Given the description of an element on the screen output the (x, y) to click on. 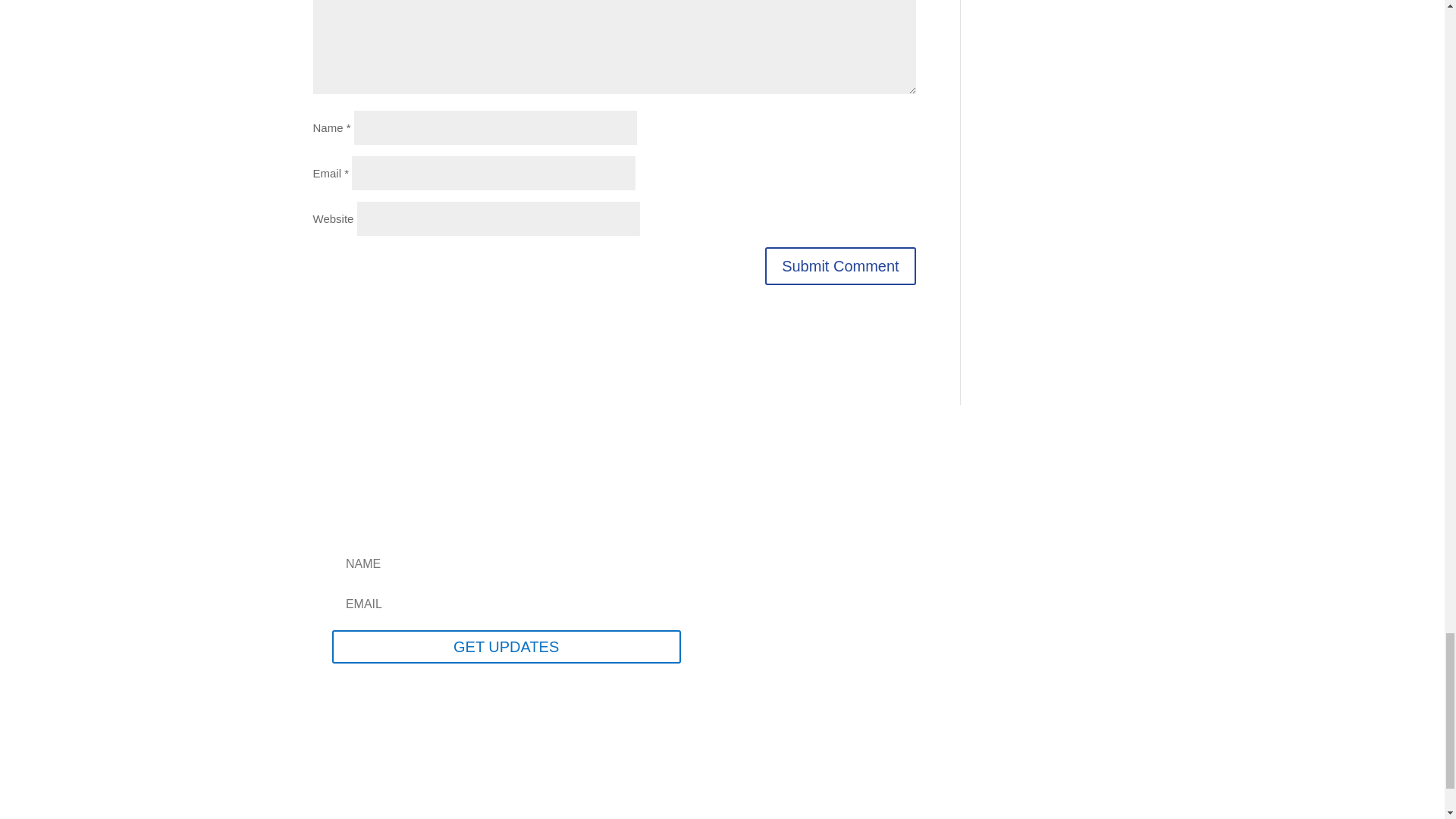
Submit Comment (840, 266)
GET UPDATES (506, 646)
Submit Comment (840, 266)
